Given the description of an element on the screen output the (x, y) to click on. 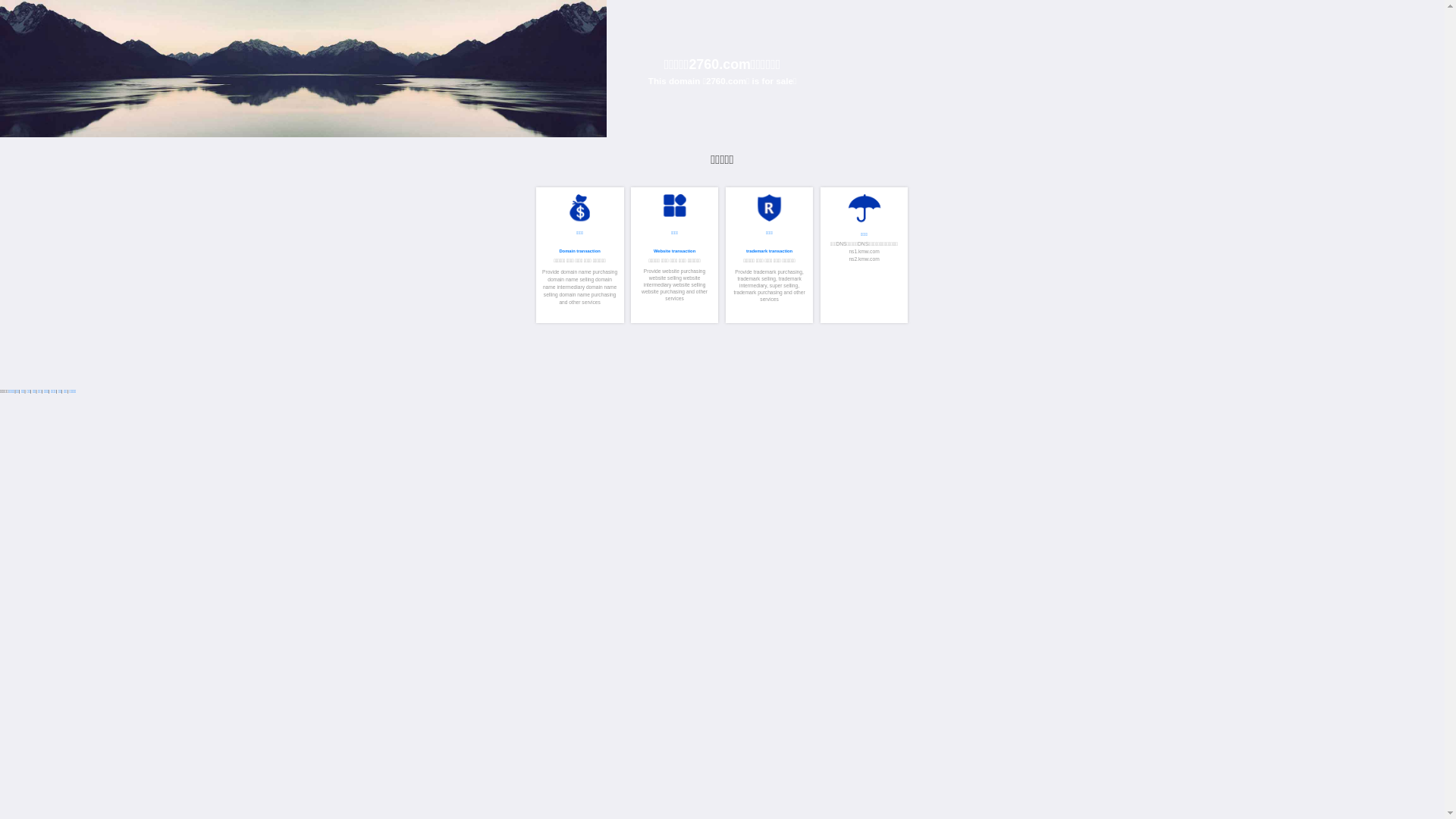
Domain transaction Element type: text (1391, 602)
